Given the description of an element on the screen output the (x, y) to click on. 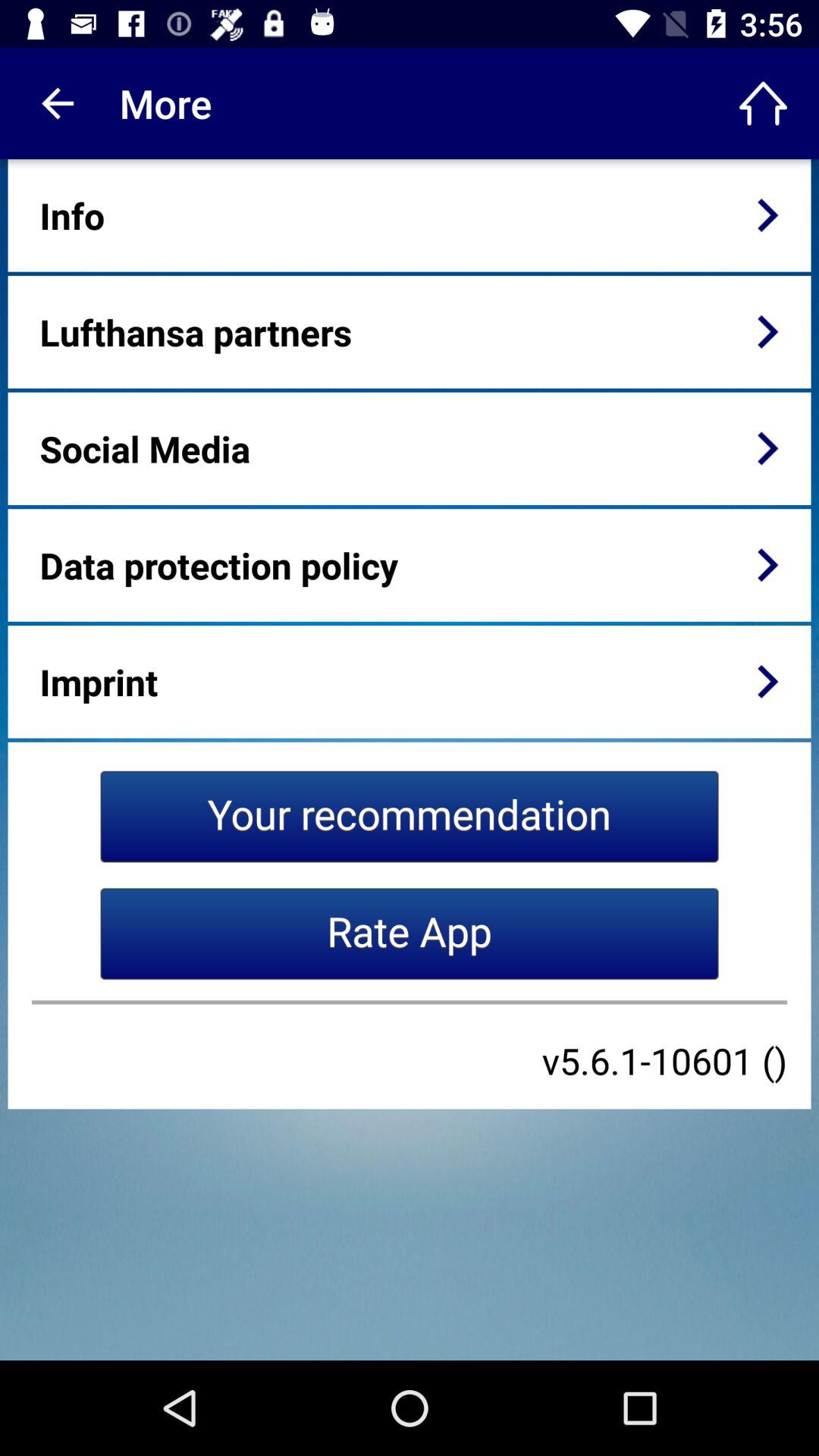
jump until the rate app item (409, 933)
